Given the description of an element on the screen output the (x, y) to click on. 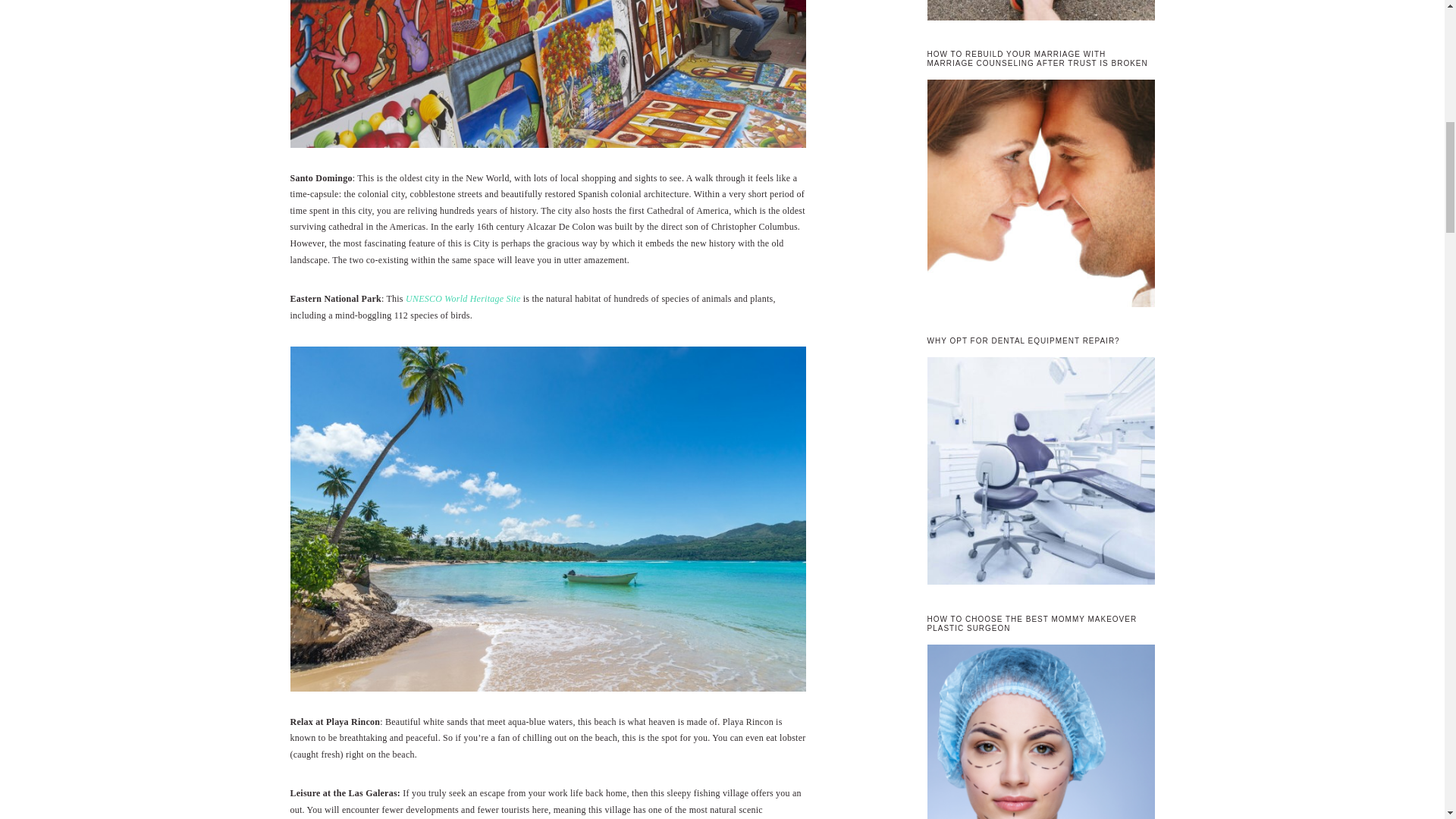
How to Choose the Best Mommy Makeover Plastic Surgeon (1040, 731)
Discover Serenity: Hidden Gems for Peaceful UK Holidays (1040, 12)
UNESCO World Heritage Site (462, 298)
Why Opt For Dental Equipment Repair? (1040, 473)
